Given the description of an element on the screen output the (x, y) to click on. 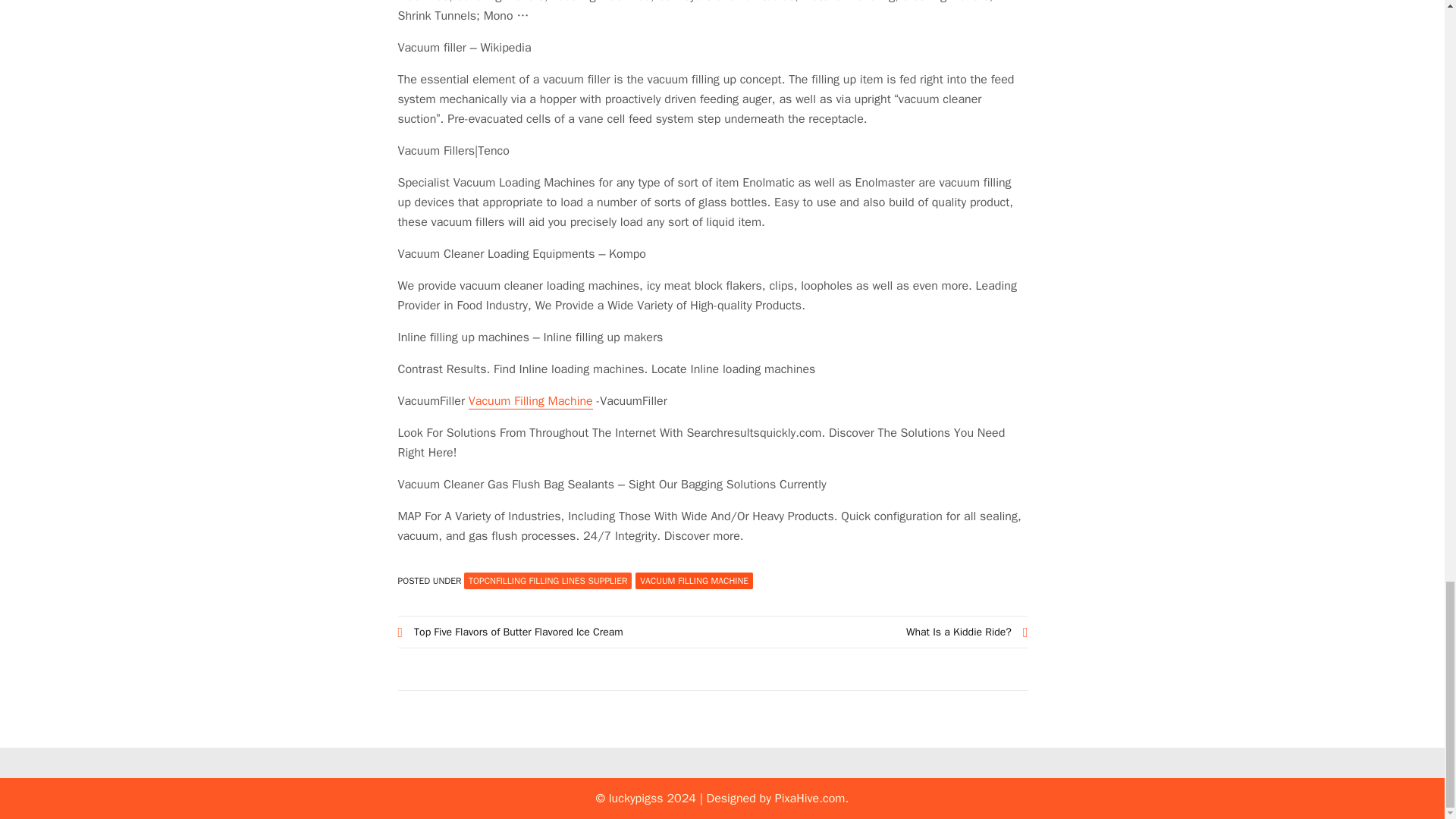
Top Five Flavors of Butter Flavored Ice Cream (555, 631)
Vacuum Filling Machine (530, 401)
TOPCNFILLING FILLING LINES SUPPLIER (547, 580)
PixaHive.com (809, 798)
What Is a Kiddie Ride? (870, 631)
VACUUM FILLING MACHINE (693, 580)
